Given the description of an element on the screen output the (x, y) to click on. 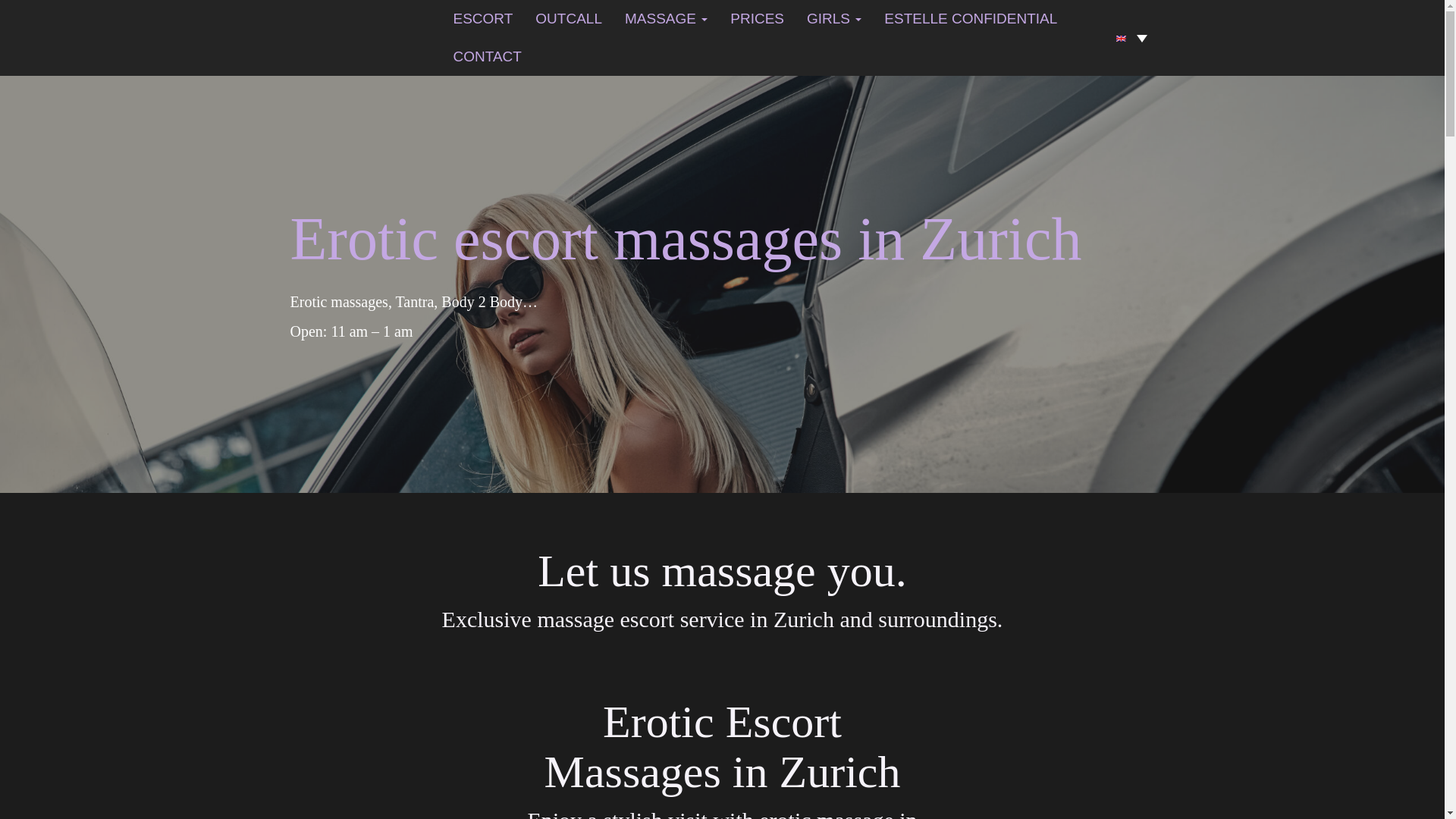
Contact (486, 56)
CONTACT (486, 56)
GIRLS (833, 18)
OUTCALL (568, 18)
Outcall (568, 18)
Estelle Confidential (970, 18)
ESCORT (482, 18)
PRICES (756, 18)
Girls (833, 18)
MASSAGE (665, 18)
ESTELLE CONFIDENTIAL (970, 18)
Prices (756, 18)
Escort (482, 18)
Massage (665, 18)
